Given the description of an element on the screen output the (x, y) to click on. 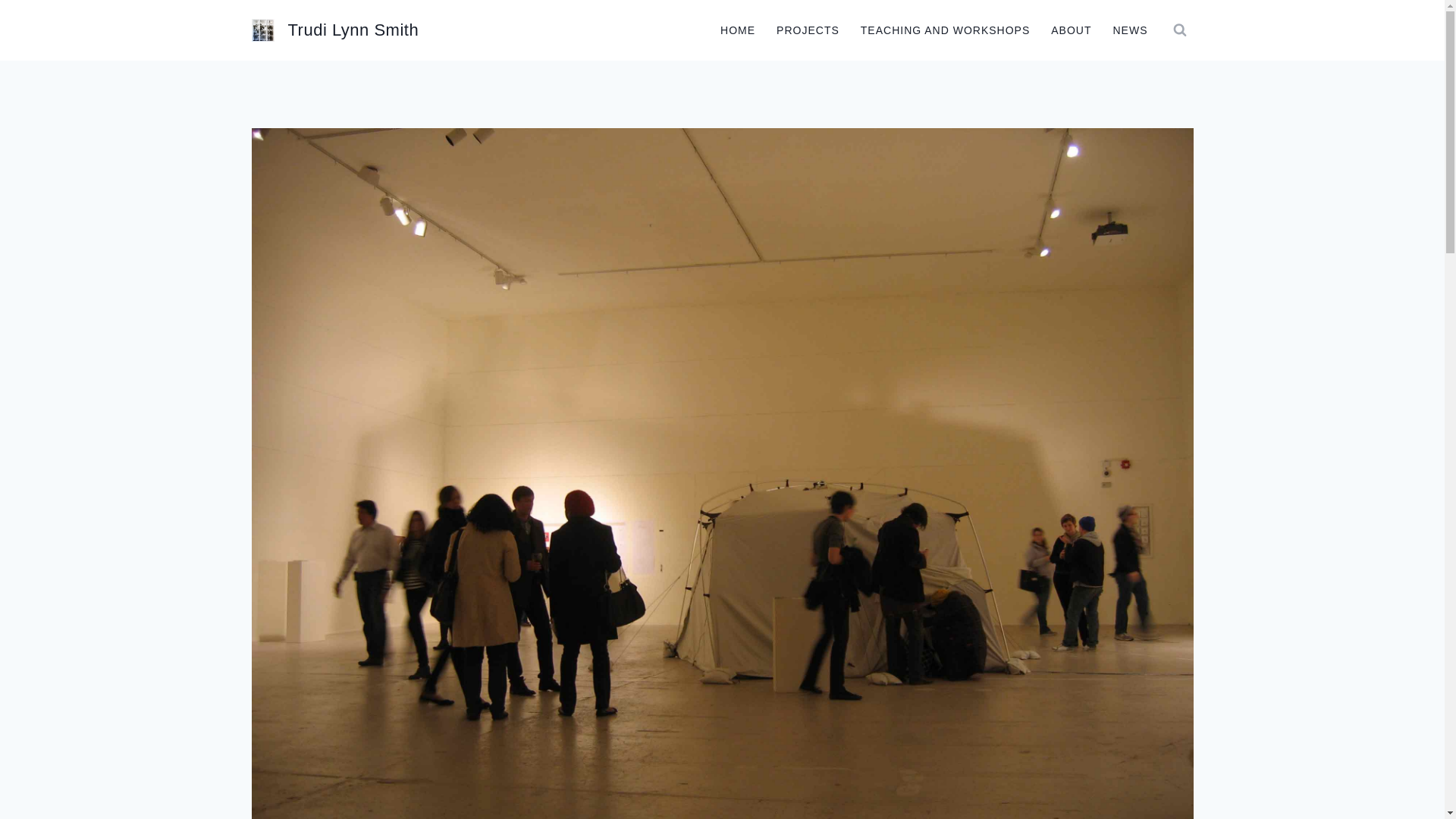
PROJECTS (807, 30)
HOME (737, 30)
NEWS (1130, 30)
Trudi Lynn Smith (335, 29)
ABOUT (1071, 30)
TEACHING AND WORKSHOPS (945, 30)
